Given the description of an element on the screen output the (x, y) to click on. 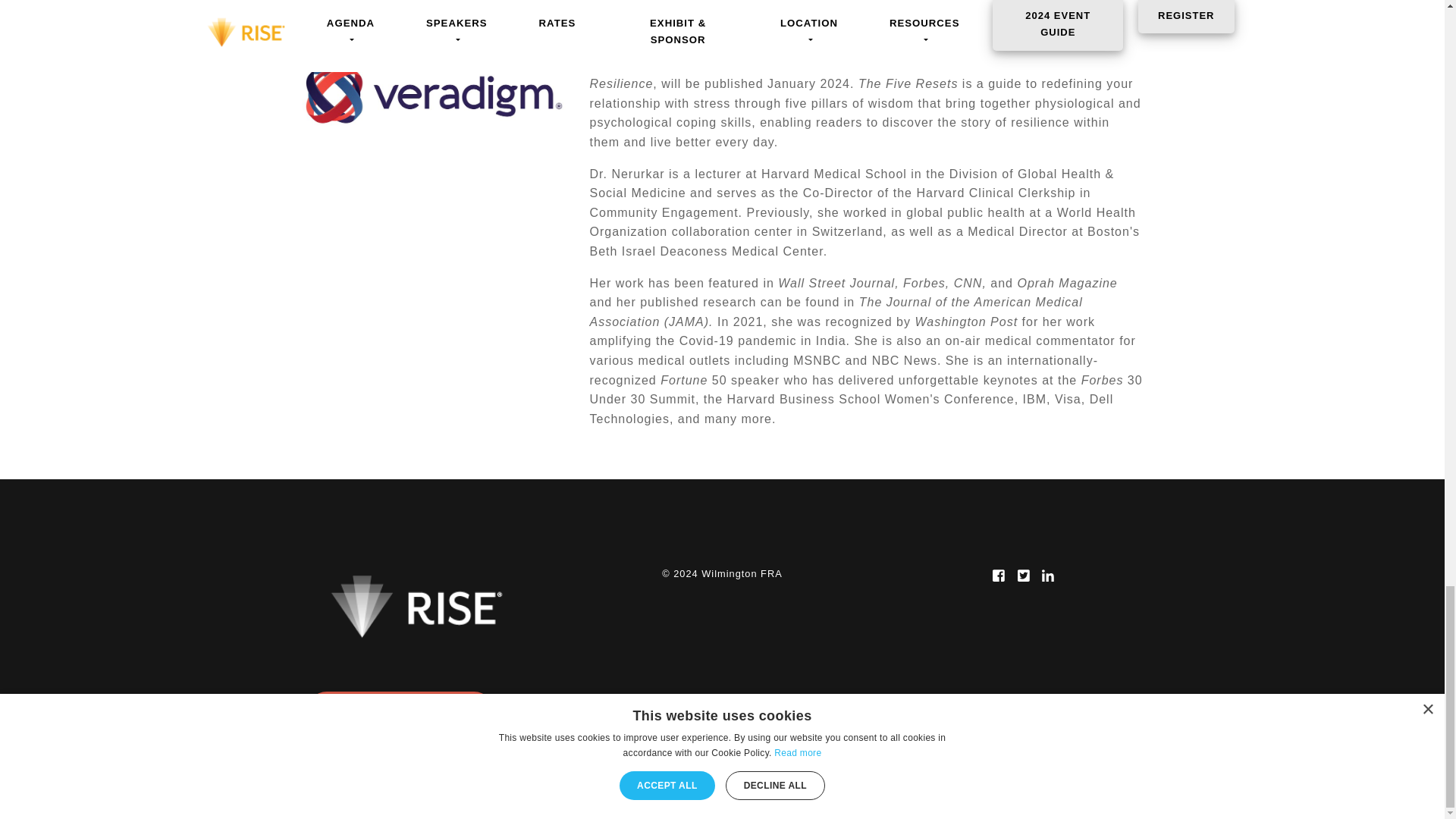
CONTACT US (400, 712)
